Given the description of an element on the screen output the (x, y) to click on. 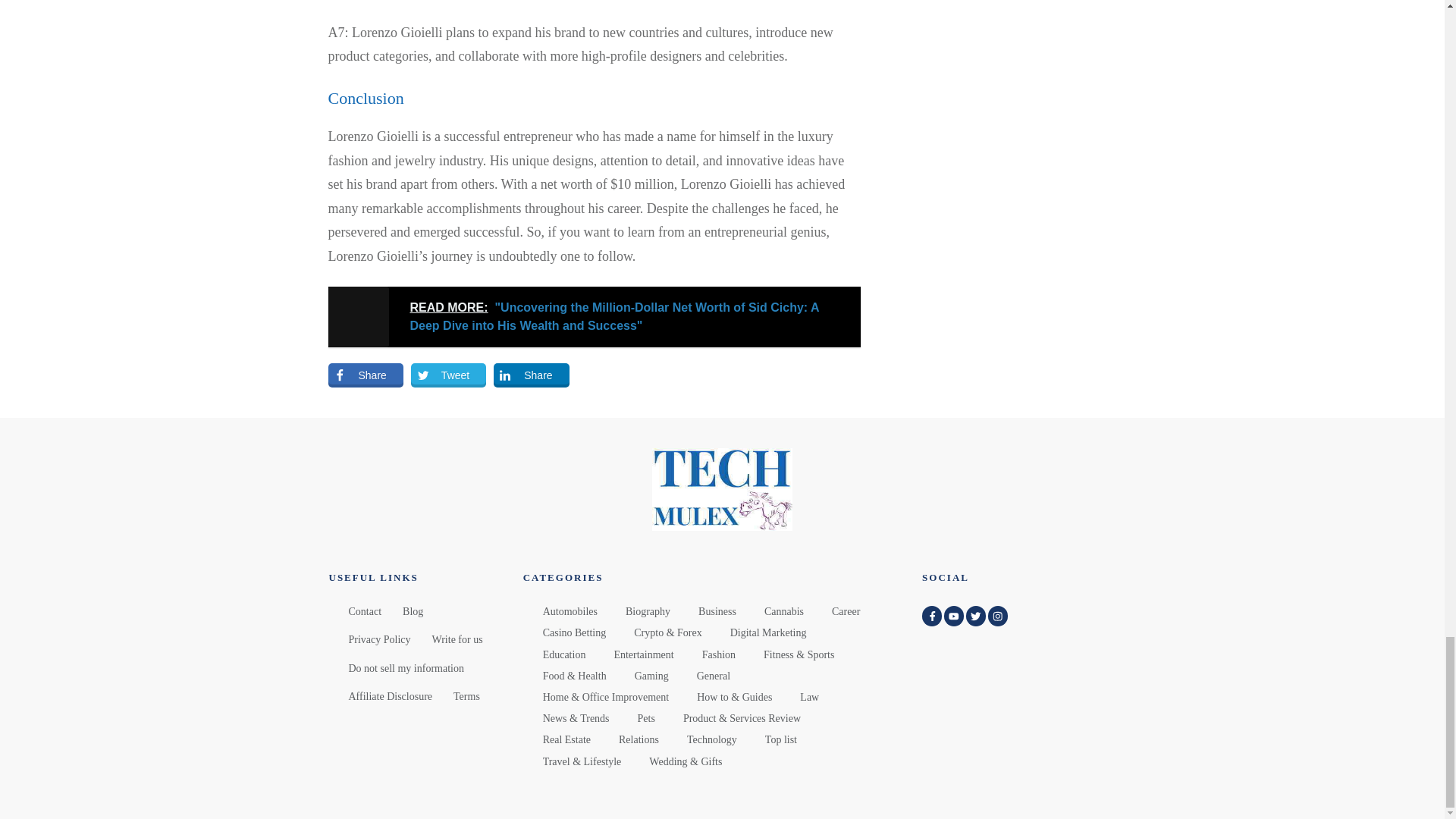
Tweet (448, 375)
Share (365, 375)
Share (531, 375)
